Given the description of an element on the screen output the (x, y) to click on. 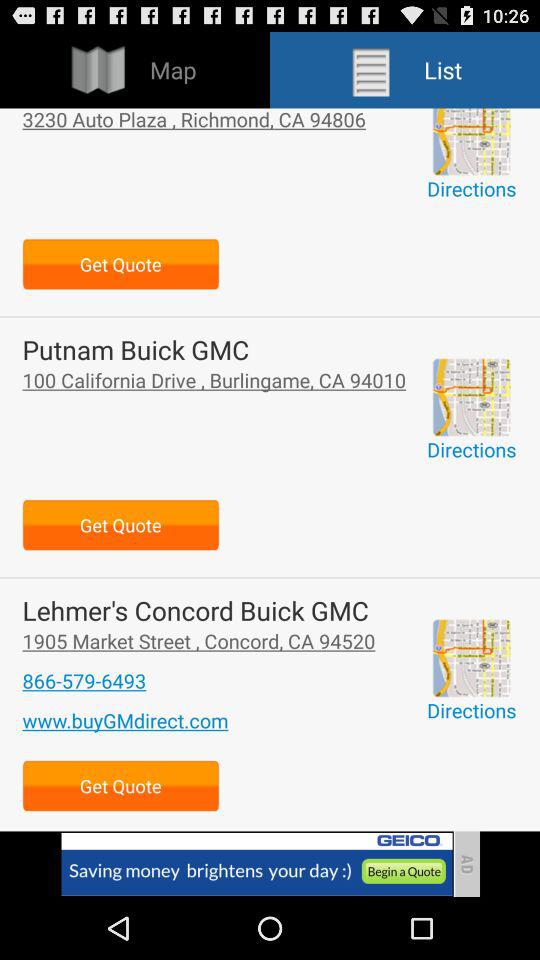
go to advertisement page (256, 864)
